Given the description of an element on the screen output the (x, y) to click on. 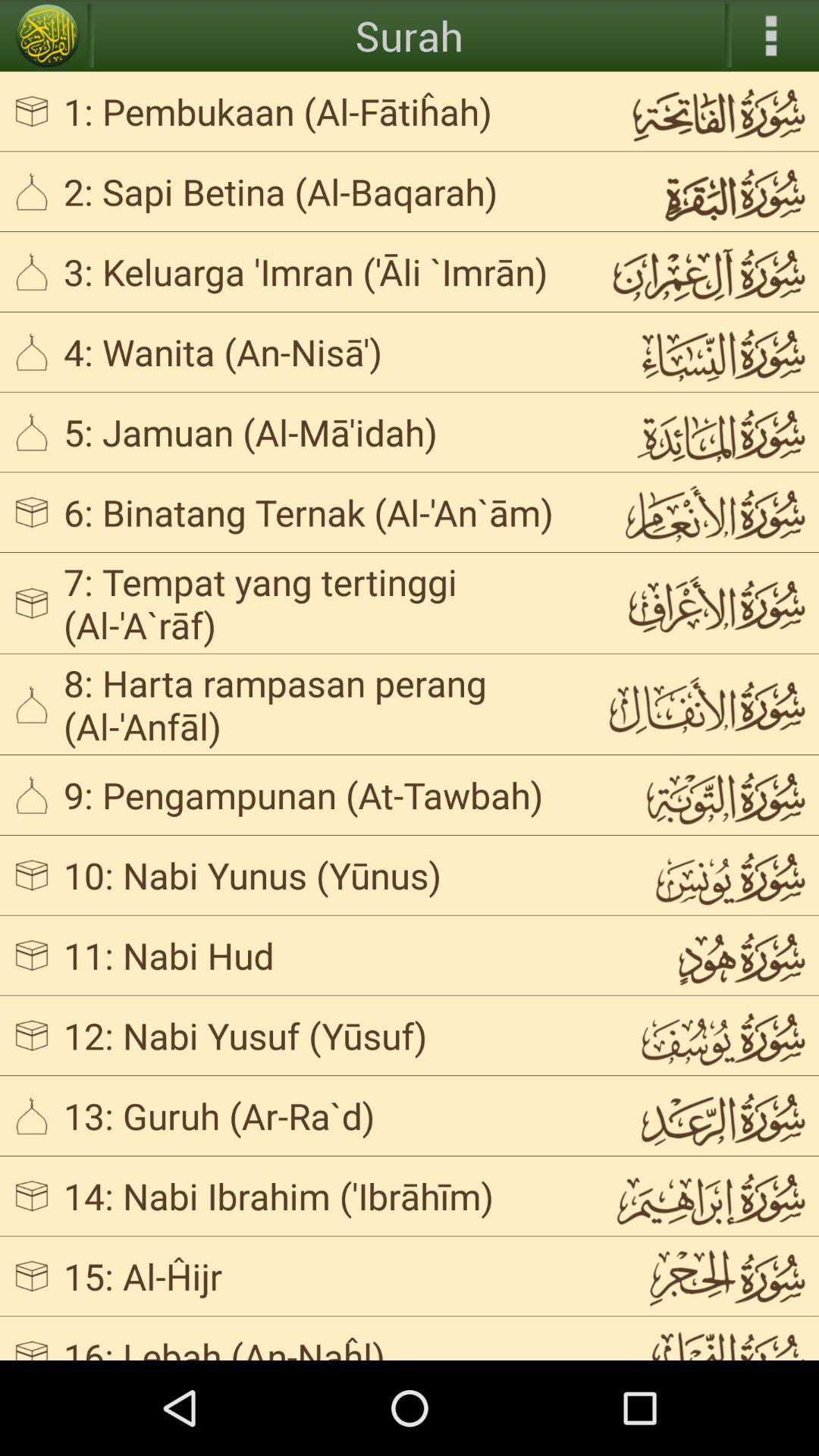
scroll until the 3 keluarga imran item (322, 271)
